Given the description of an element on the screen output the (x, y) to click on. 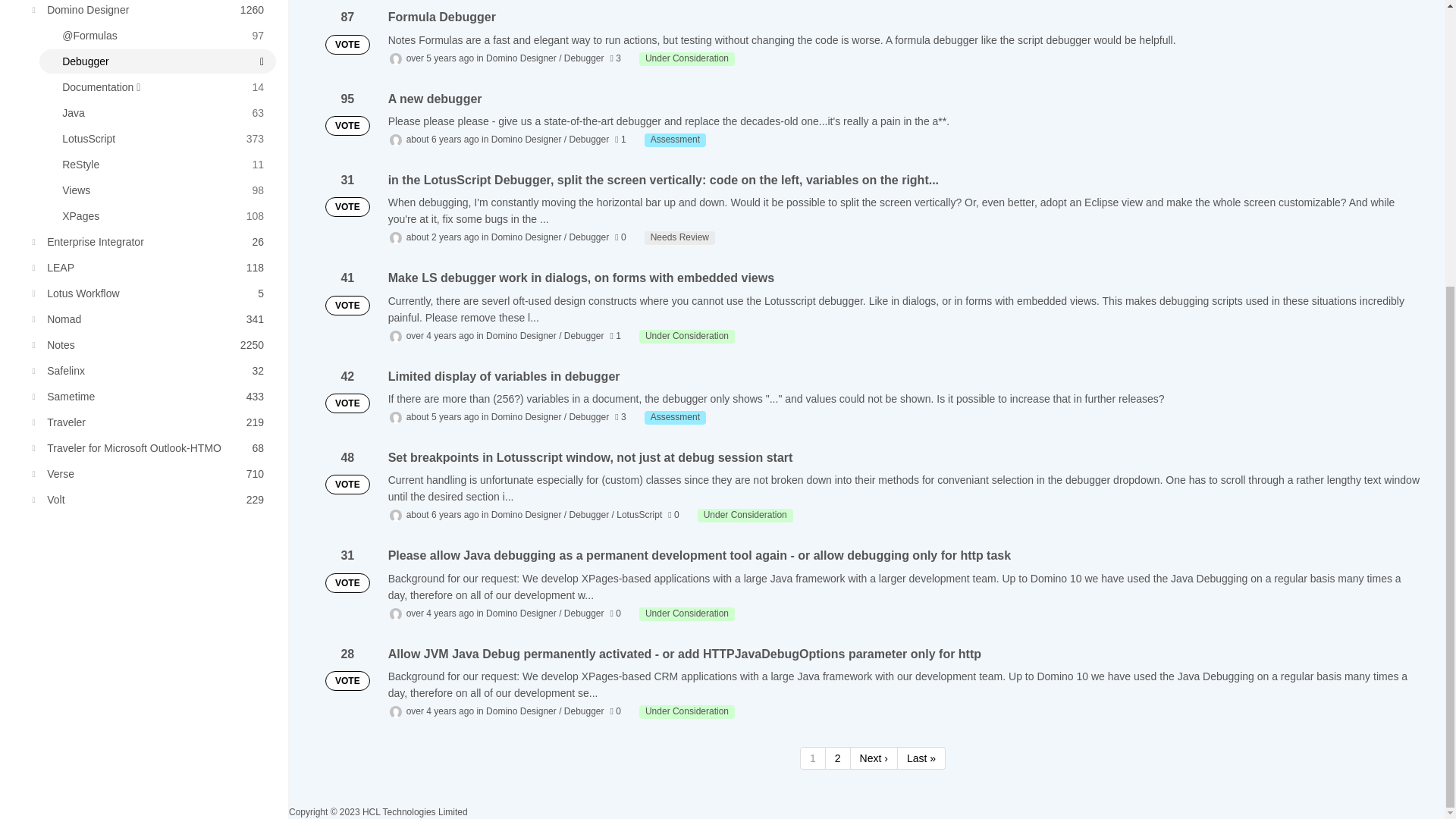
Needs Review (679, 237)
Under Consideration (150, 241)
Assessment (157, 138)
Under Consideration (687, 59)
Under Consideration (675, 140)
Under Consideration (150, 319)
Under Consideration (150, 11)
